Given the description of an element on the screen output the (x, y) to click on. 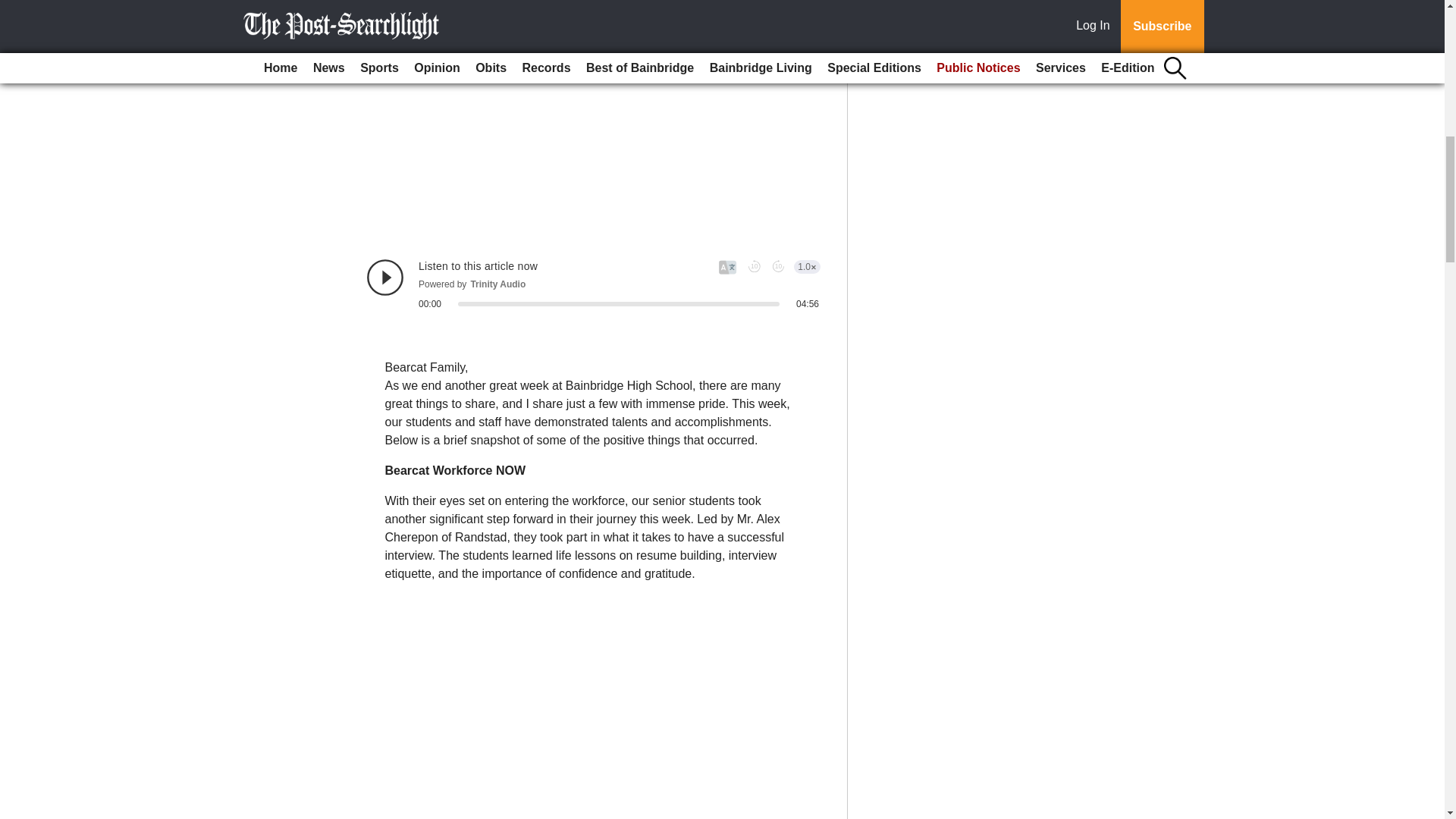
Trinity Audio Player (592, 283)
